Given the description of an element on the screen output the (x, y) to click on. 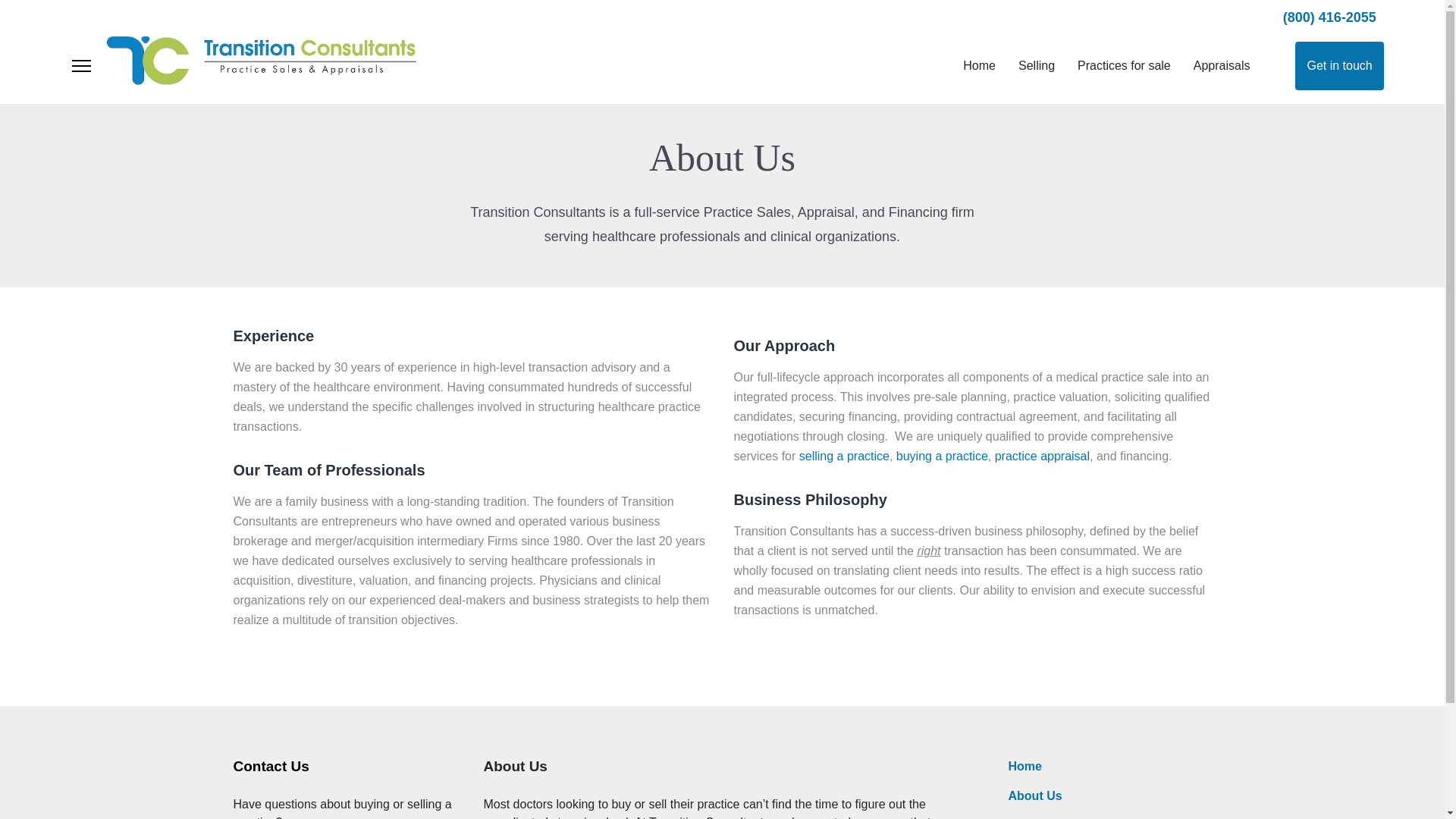
selling a practice (844, 455)
Appraisals (1222, 66)
Contact Us (270, 765)
Practices for sale (1123, 66)
About Us (1035, 795)
buying a practice (942, 455)
Get in touch (1339, 65)
Home (979, 66)
practice appraisal (1041, 455)
Selling (1036, 66)
Home (1025, 766)
